Given the description of an element on the screen output the (x, y) to click on. 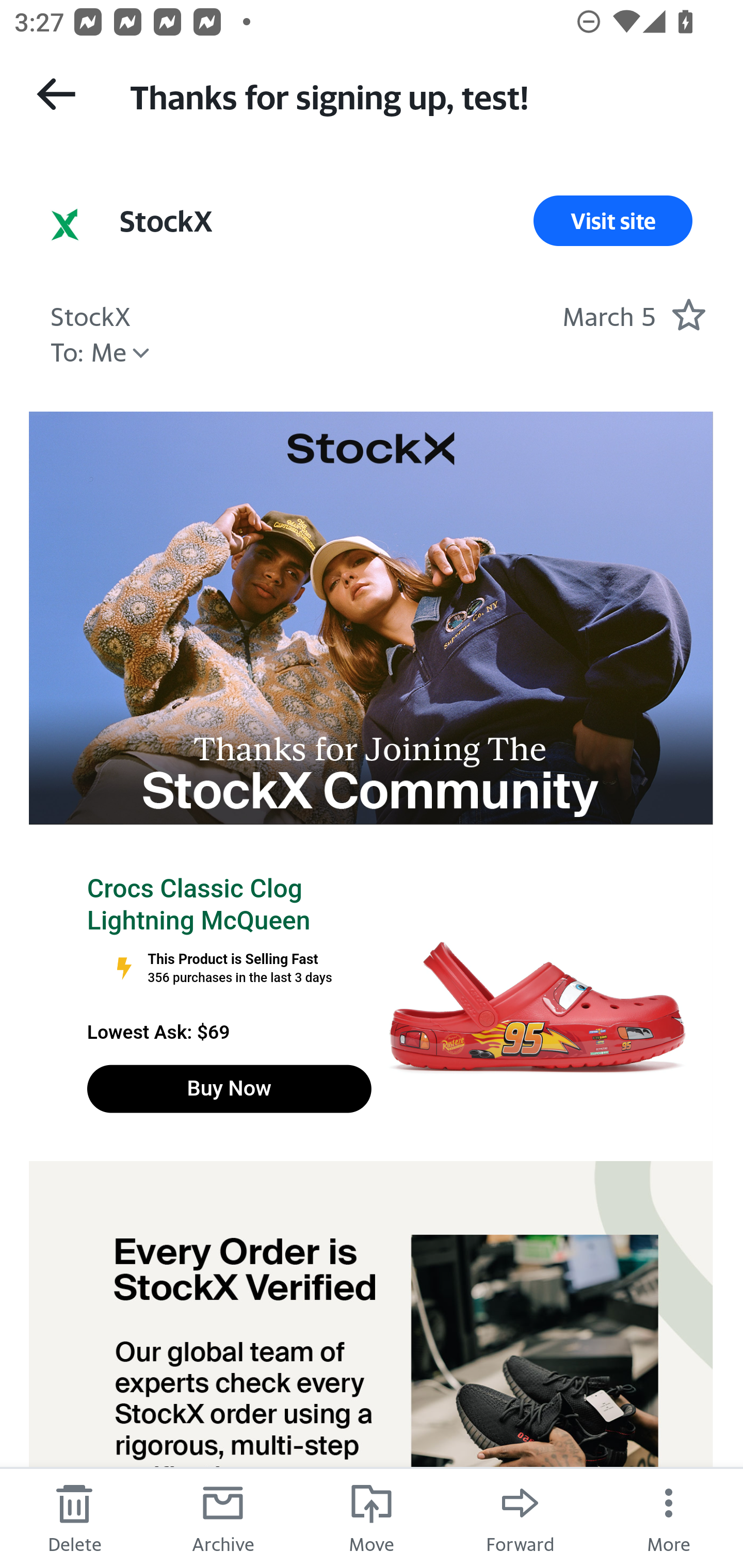
Back (55, 93)
Thanks for signing up, test! (418, 94)
View all messages from sender (64, 225)
Visit site Visit Site Link (612, 221)
StockX Sender StockX (164, 220)
StockX Sender StockX (90, 314)
Mark as starred. (688, 314)
click?upn=u001 (370, 617)
Crocs Classic Clog Lightning McQueen (198, 904)
Crocs Classic Clog Lightning McQueen (536, 1008)
Buy Now (228, 1088)
Delete (74, 1517)
Archive (222, 1517)
Move (371, 1517)
Forward (519, 1517)
More (668, 1517)
